Given the description of an element on the screen output the (x, y) to click on. 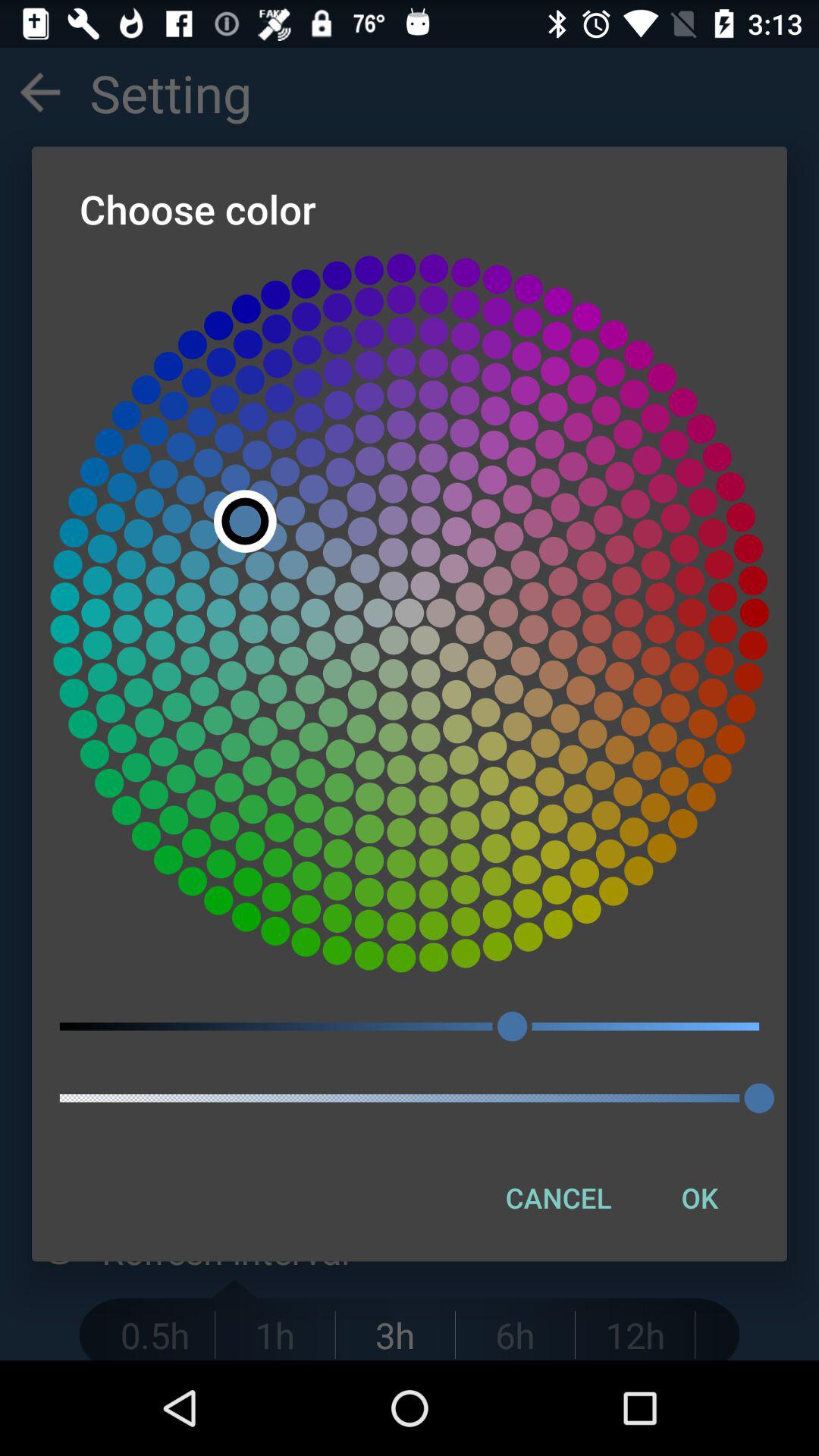
jump until the ok icon (699, 1197)
